Given the description of an element on the screen output the (x, y) to click on. 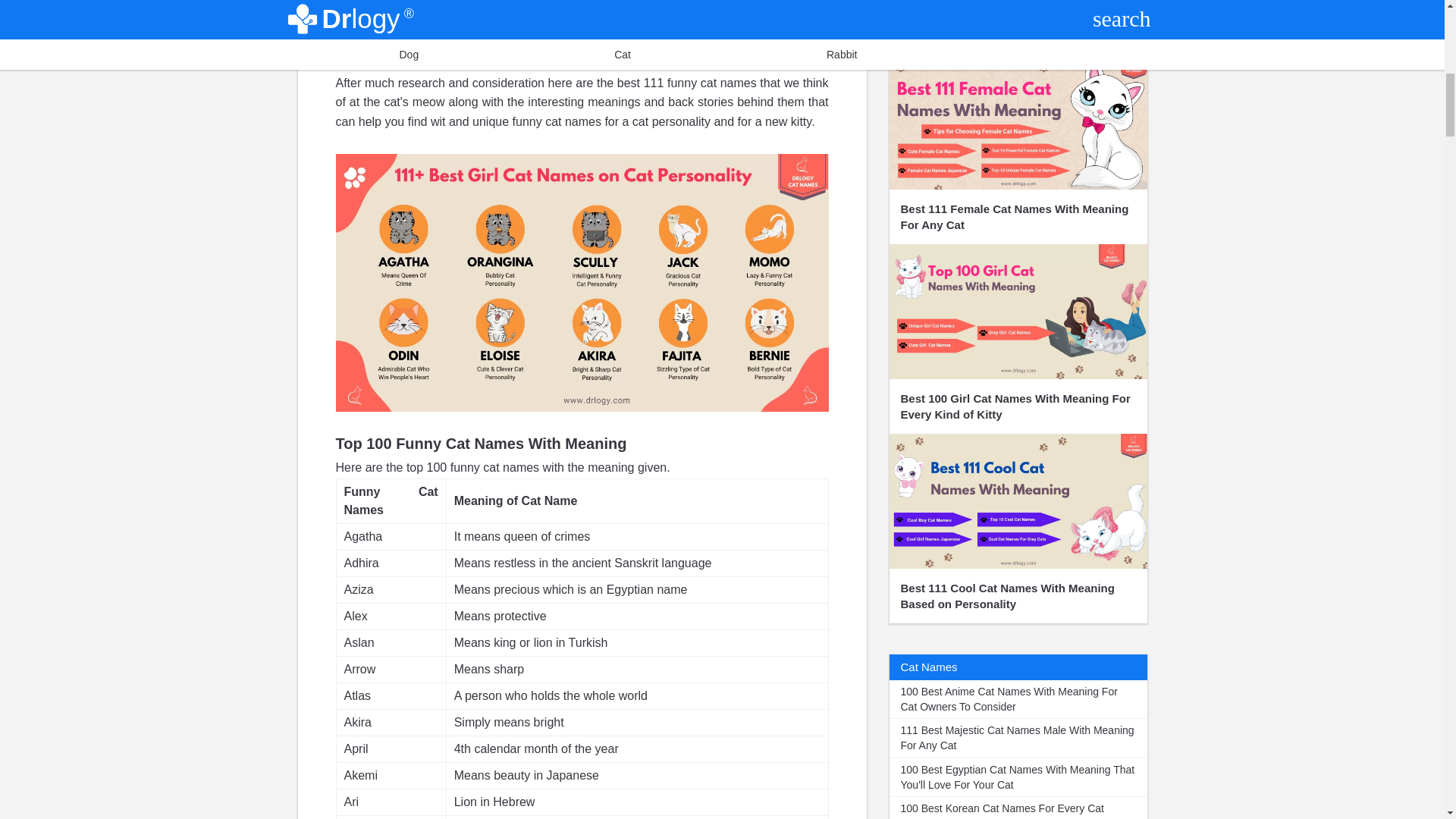
Best 100 Girl Cat Names With Meaning For Every Kind of Kitty (1017, 339)
Best 111 Female Cat Names With Meaning For Any Cat (1017, 149)
111 Best Majestic Cat Names Male With Meaning For Any Cat (1017, 738)
Top 100 Unique Male Cat Names For Every Kitten (1017, 27)
Best 111 Cool Cat Names With Meaning Based on Personality (1017, 528)
anxiety (354, 19)
depression (430, 19)
